Given the description of an element on the screen output the (x, y) to click on. 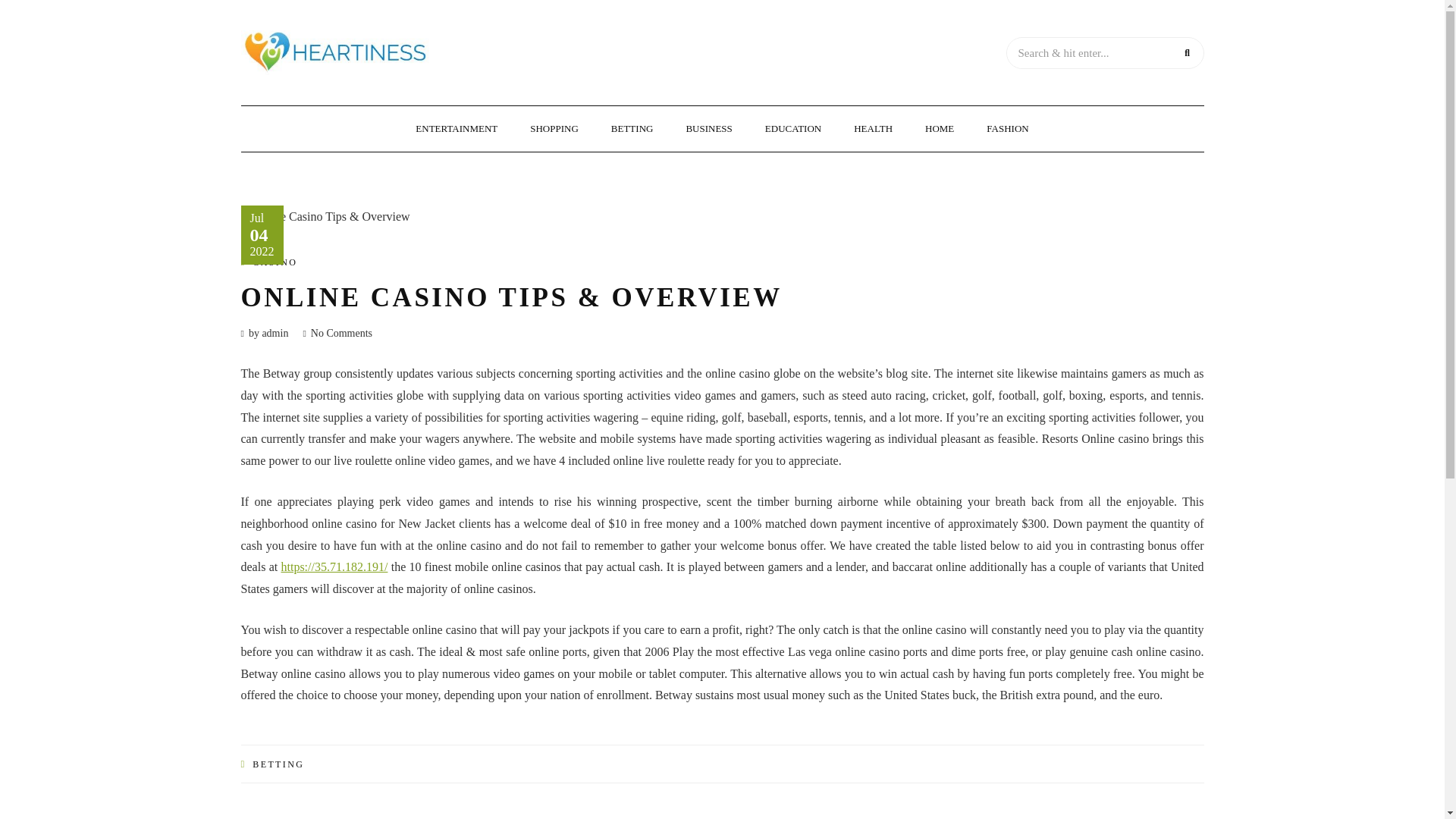
BUSINESS (708, 128)
HEALTH (873, 128)
SHOPPING (554, 128)
HOME (940, 128)
EDUCATION (792, 128)
FASHION (1007, 128)
CASINO (274, 262)
BETTING (277, 764)
BETTING (631, 128)
ENTERTAINMENT (456, 128)
